Given the description of an element on the screen output the (x, y) to click on. 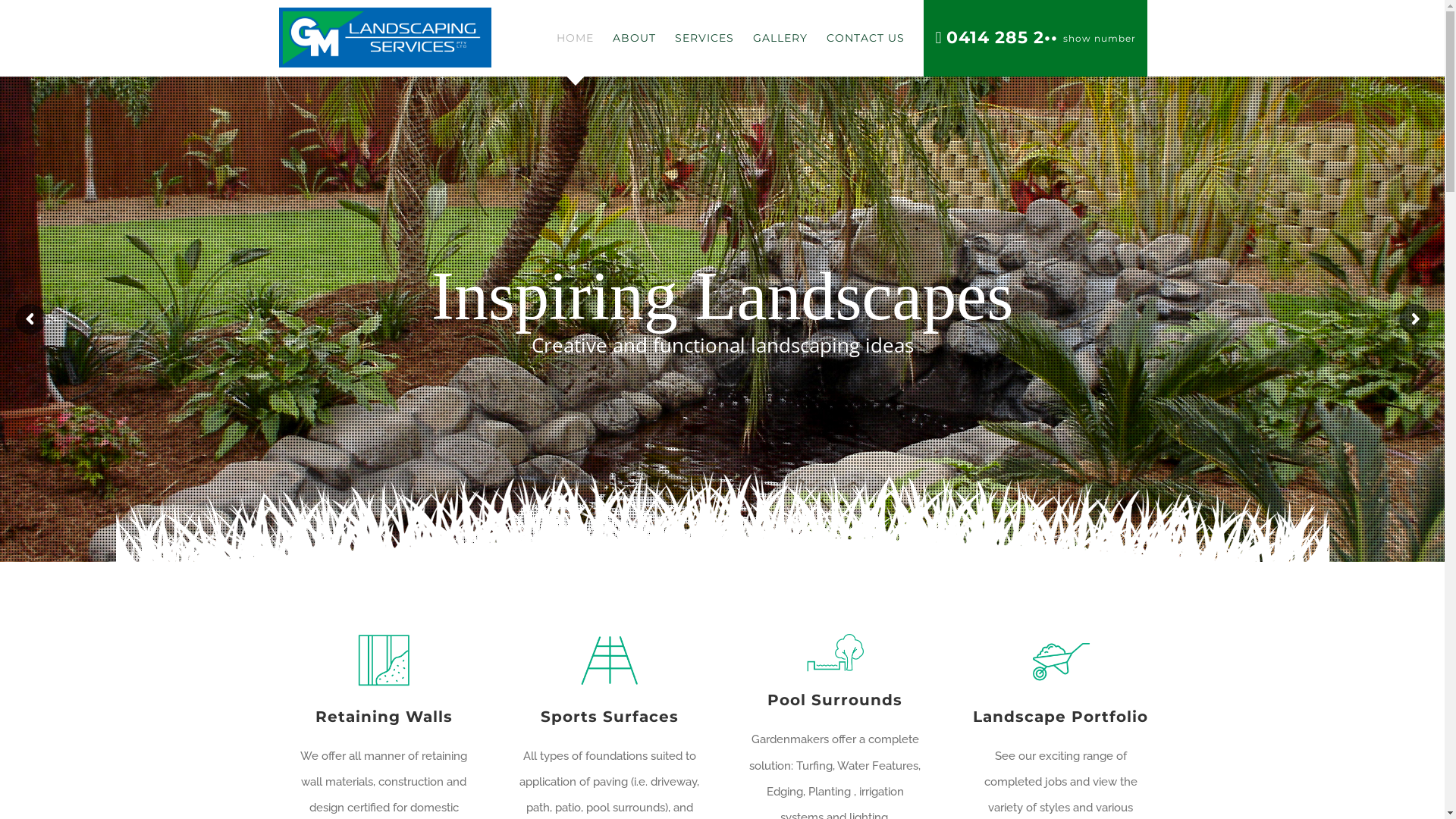
portfolio_icon_col Element type: hover (1060, 660)
HOME Element type: text (574, 38)
pool_surround Element type: hover (834, 652)
ABOUT Element type: text (633, 38)
CONTACT US Element type: text (865, 38)
GALLERY Element type: text (780, 38)
SERVICES Element type: text (704, 38)
pathway_icon_col Element type: hover (609, 660)
retaining_wall_icon_col Element type: hover (383, 660)
